Given the description of an element on the screen output the (x, y) to click on. 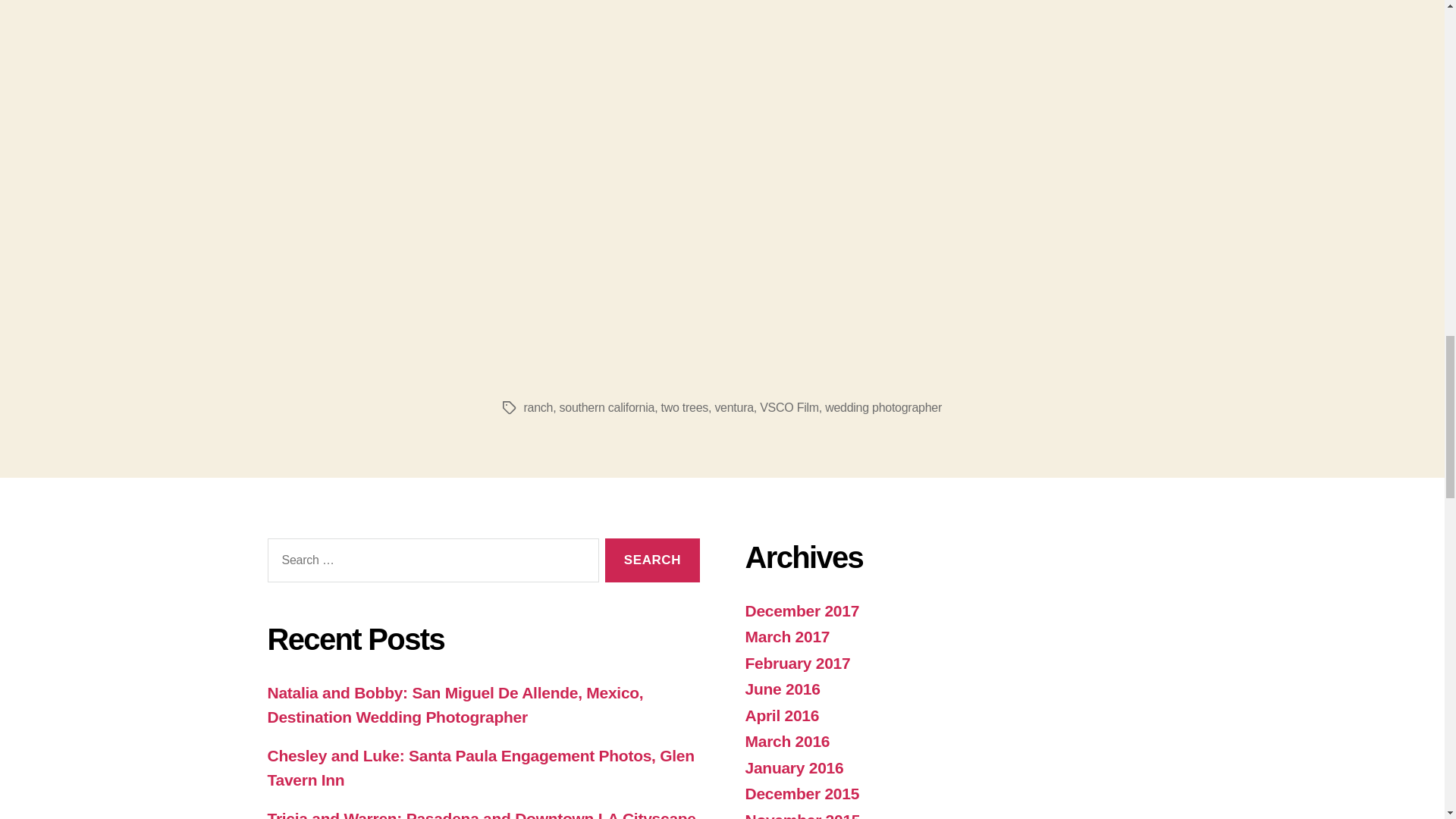
Search (651, 560)
Search (651, 560)
